Given the description of an element on the screen output the (x, y) to click on. 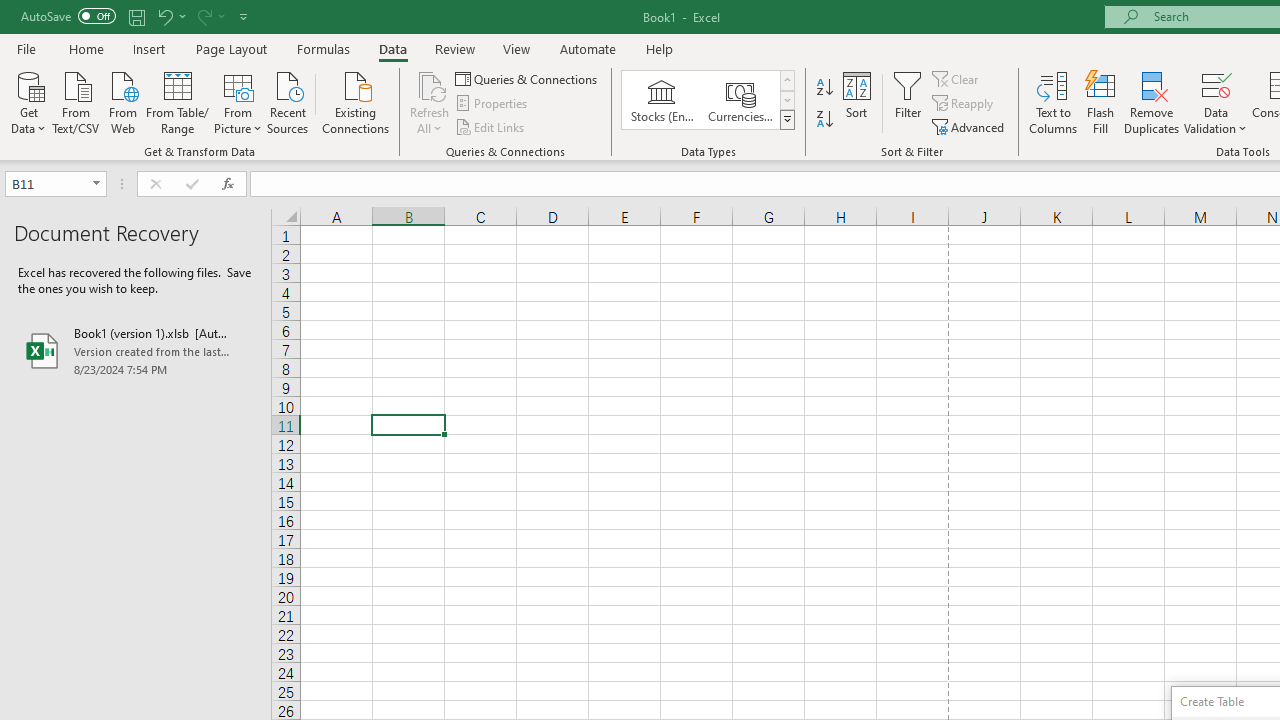
Text to Columns... (1053, 102)
Queries & Connections (527, 78)
From Table/Range (177, 101)
Properties (492, 103)
Existing Connections (355, 101)
Sort A to Z (824, 87)
